Given the description of an element on the screen output the (x, y) to click on. 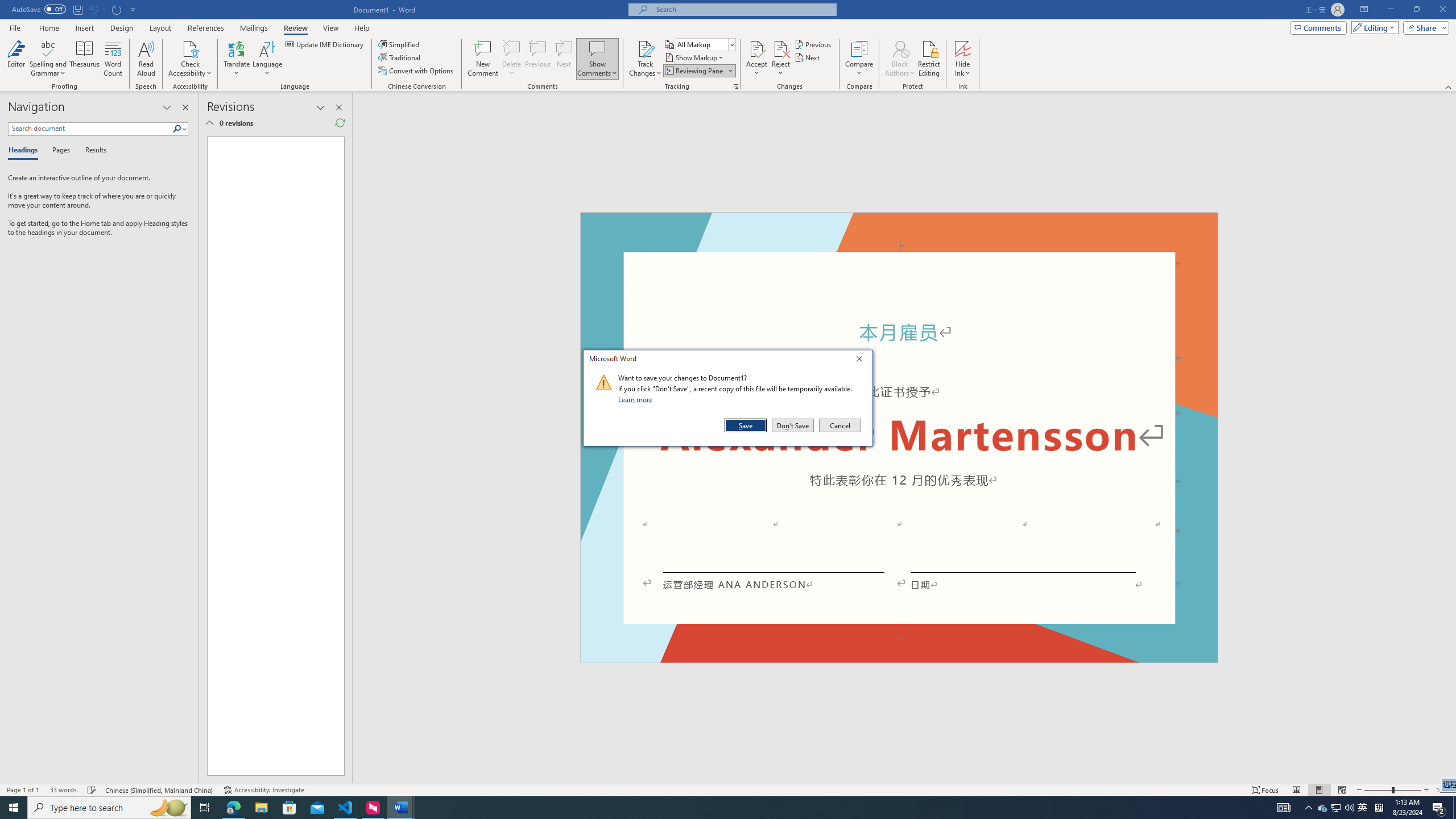
Delete (511, 48)
Show Detailed Summary (209, 122)
Previous (813, 44)
Spelling and Grammar (48, 58)
Show Comments (597, 48)
Reviewing Pane (698, 69)
Accept and Move to Next (756, 48)
Convert with Options... (417, 69)
Can't Undo (92, 9)
